Given the description of an element on the screen output the (x, y) to click on. 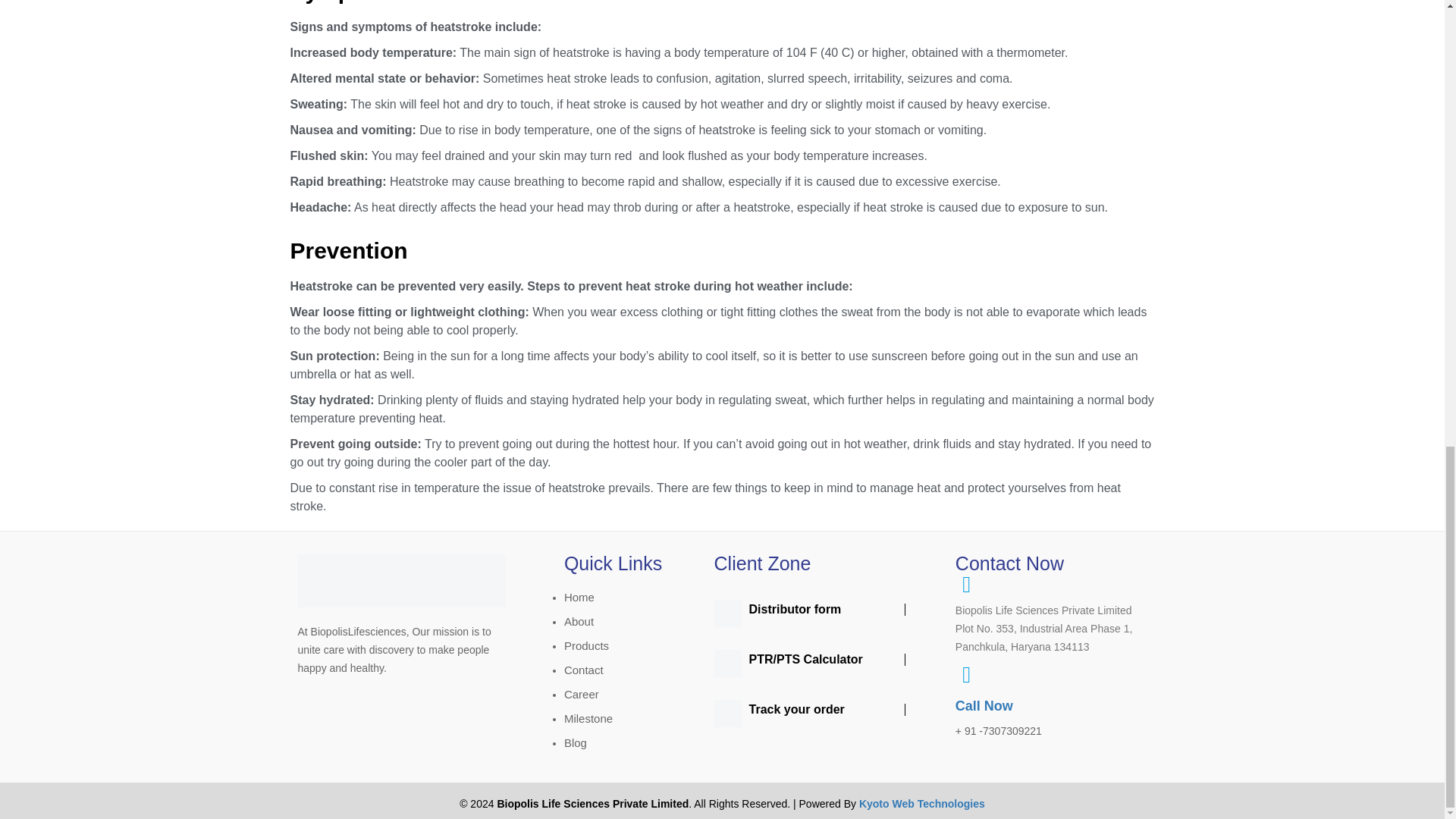
Career (581, 694)
Products (586, 645)
Home (579, 596)
Contact (584, 669)
About (579, 621)
Milestone (588, 717)
